Given the description of an element on the screen output the (x, y) to click on. 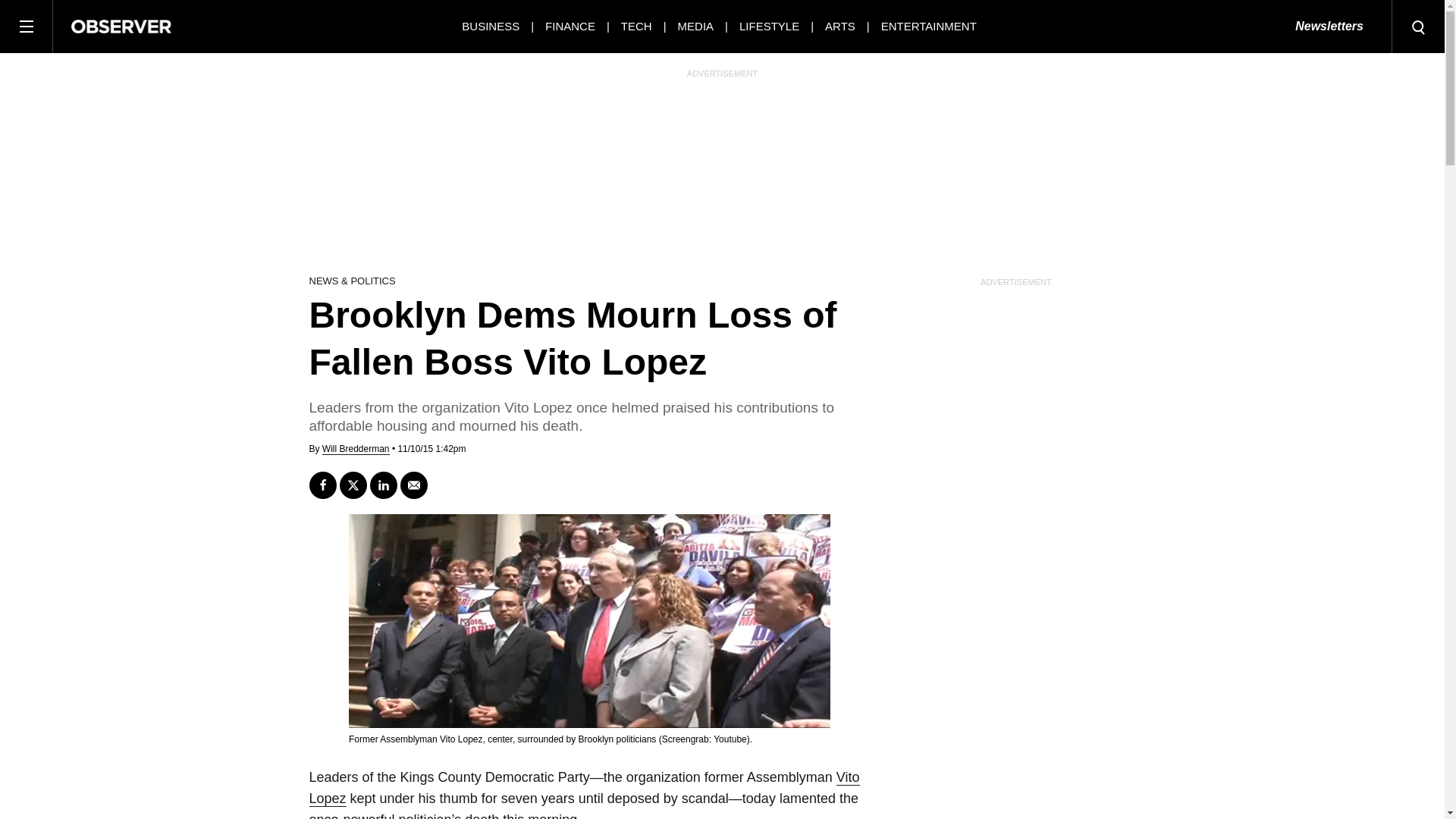
MEDIA (696, 25)
View All Posts by Will Bredderman (355, 449)
Vito Lopez (584, 787)
BUSINESS (490, 25)
Observer (121, 26)
Send email (414, 484)
ENTERTAINMENT (928, 25)
TECH (636, 25)
ARTS (840, 25)
LIFESTYLE (769, 25)
